Given the description of an element on the screen output the (x, y) to click on. 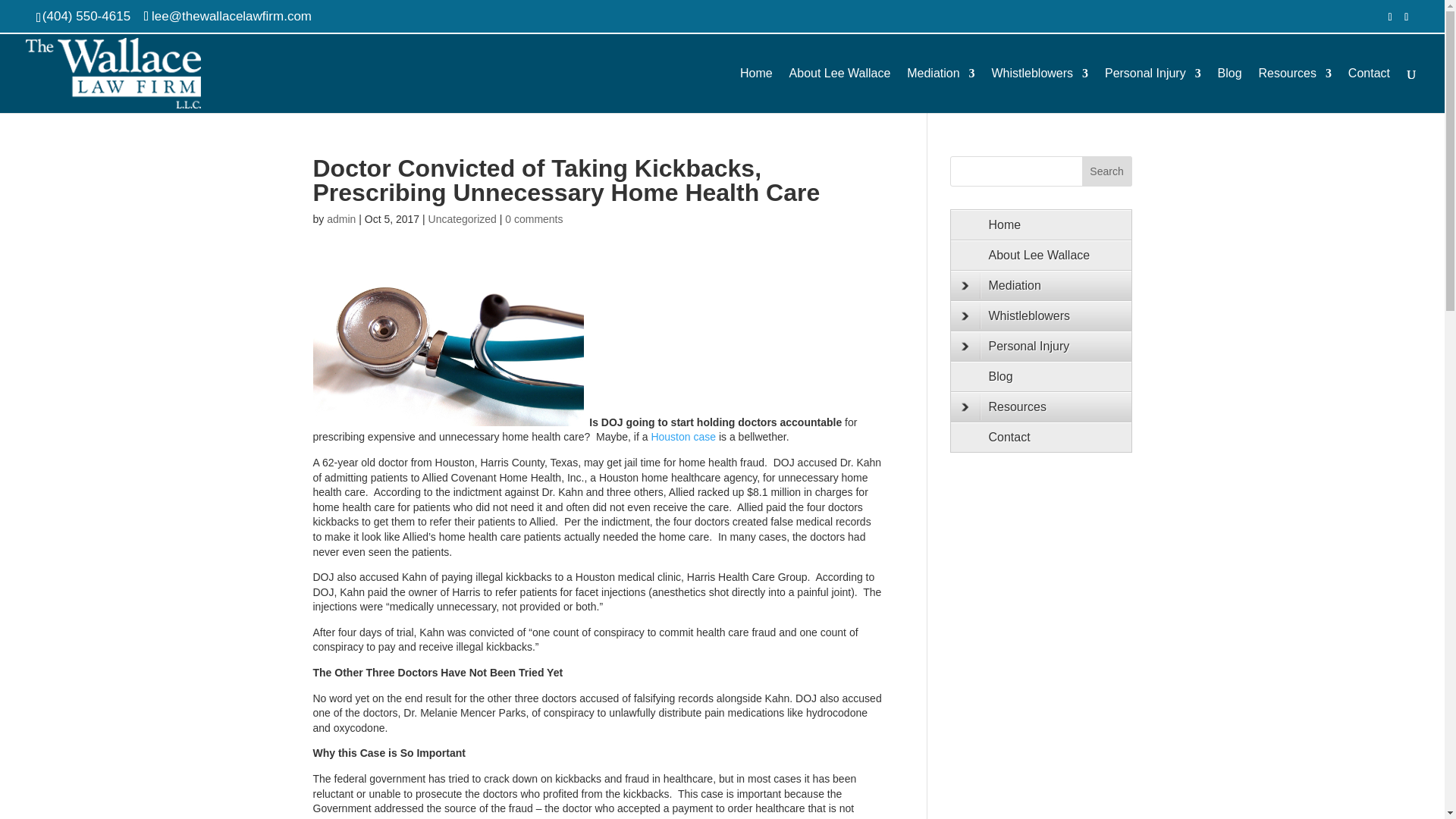
Search (1106, 171)
Whistleblowers (1039, 90)
About Lee Wallace (840, 90)
Posts by admin (340, 218)
Mediation (940, 90)
